Given the description of an element on the screen output the (x, y) to click on. 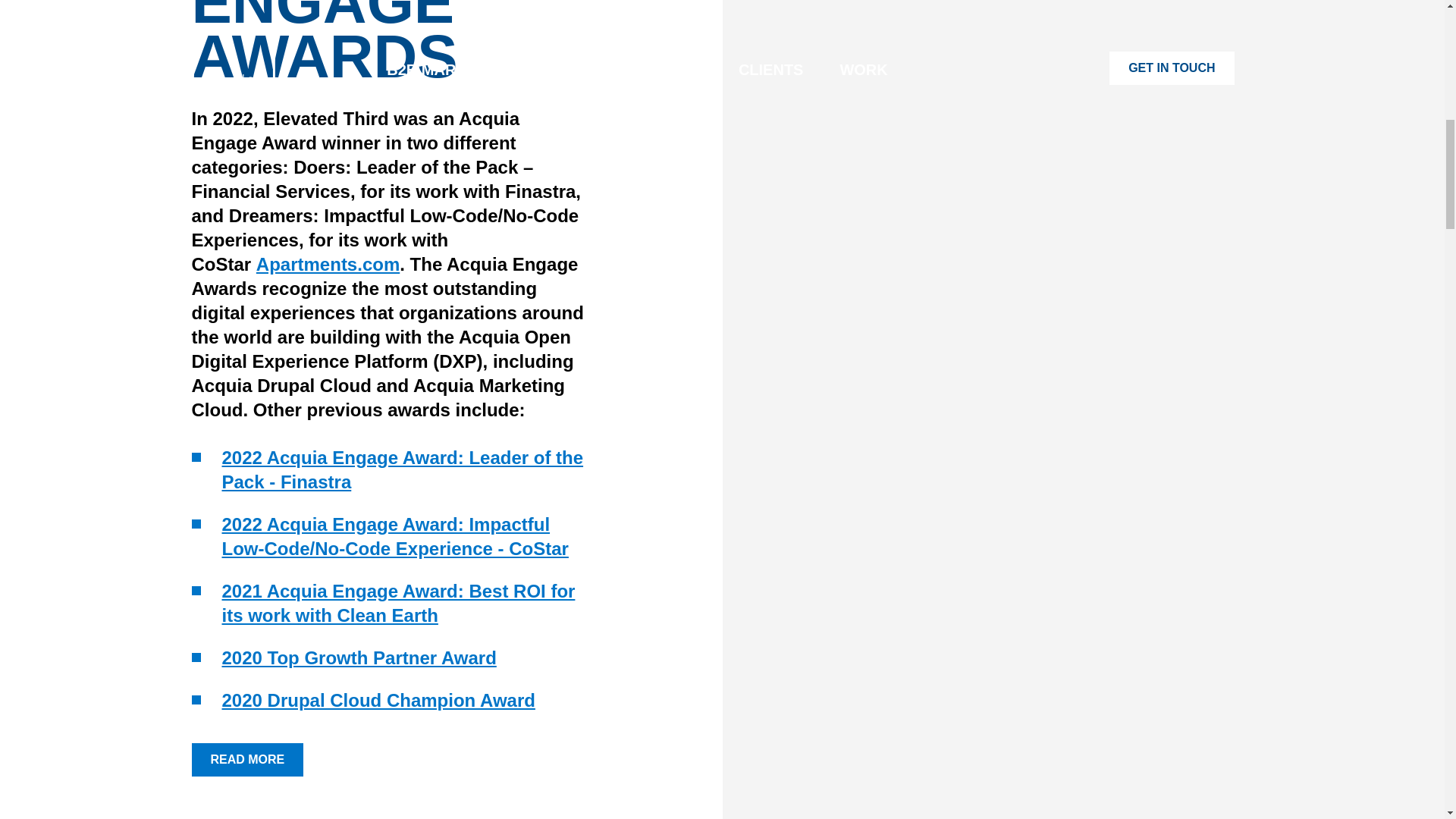
Apartments.com (327, 263)
2020 Drupal Cloud Champion Award (377, 700)
2022 Acquia Engage Award: Leader of the Pack - Finastra (402, 469)
2020 Top Growth Partner Award (358, 657)
READ MORE (246, 759)
